Given the description of an element on the screen output the (x, y) to click on. 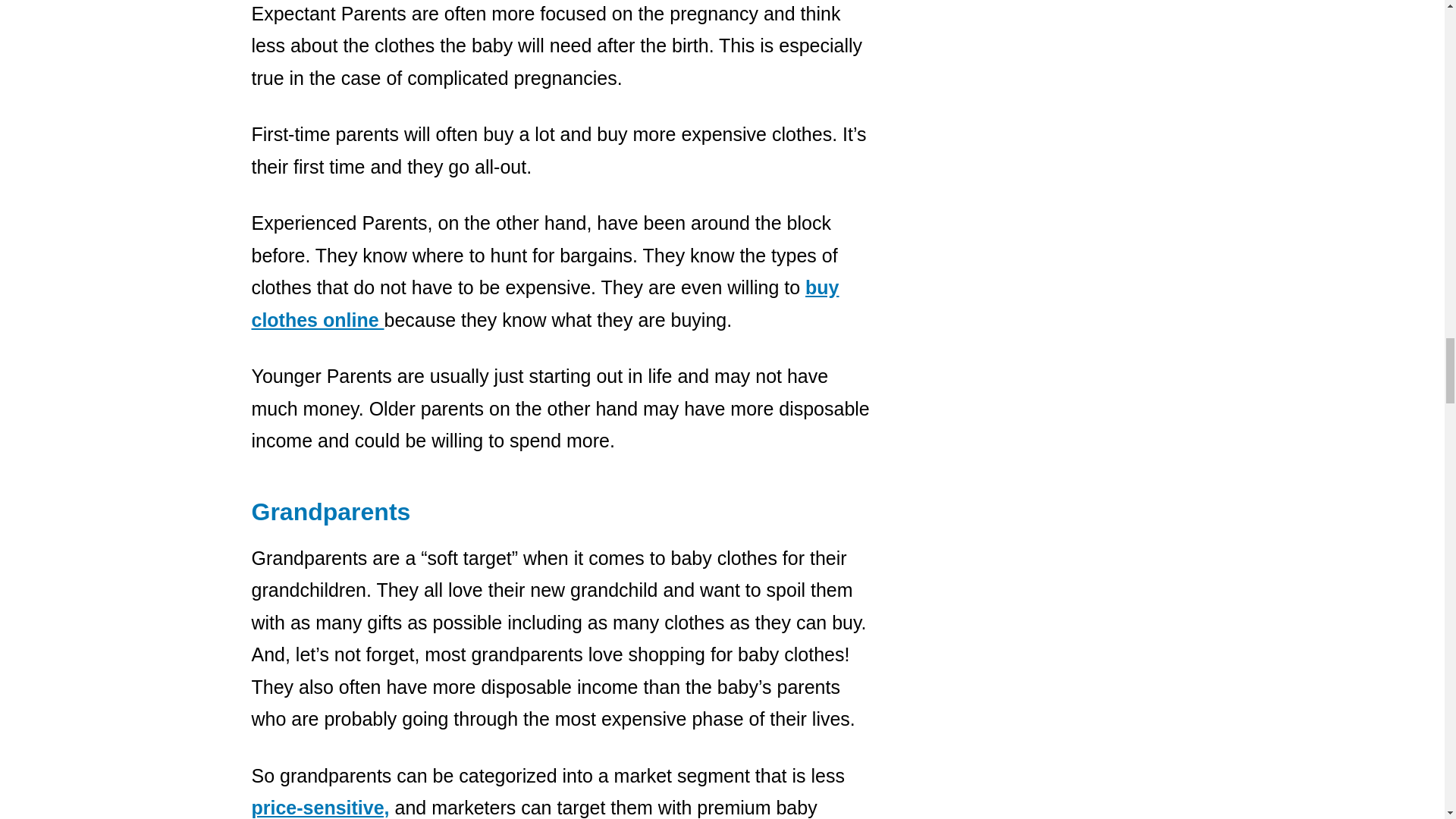
price-sensitive, (320, 807)
buy clothes online (545, 303)
